Given the description of an element on the screen output the (x, y) to click on. 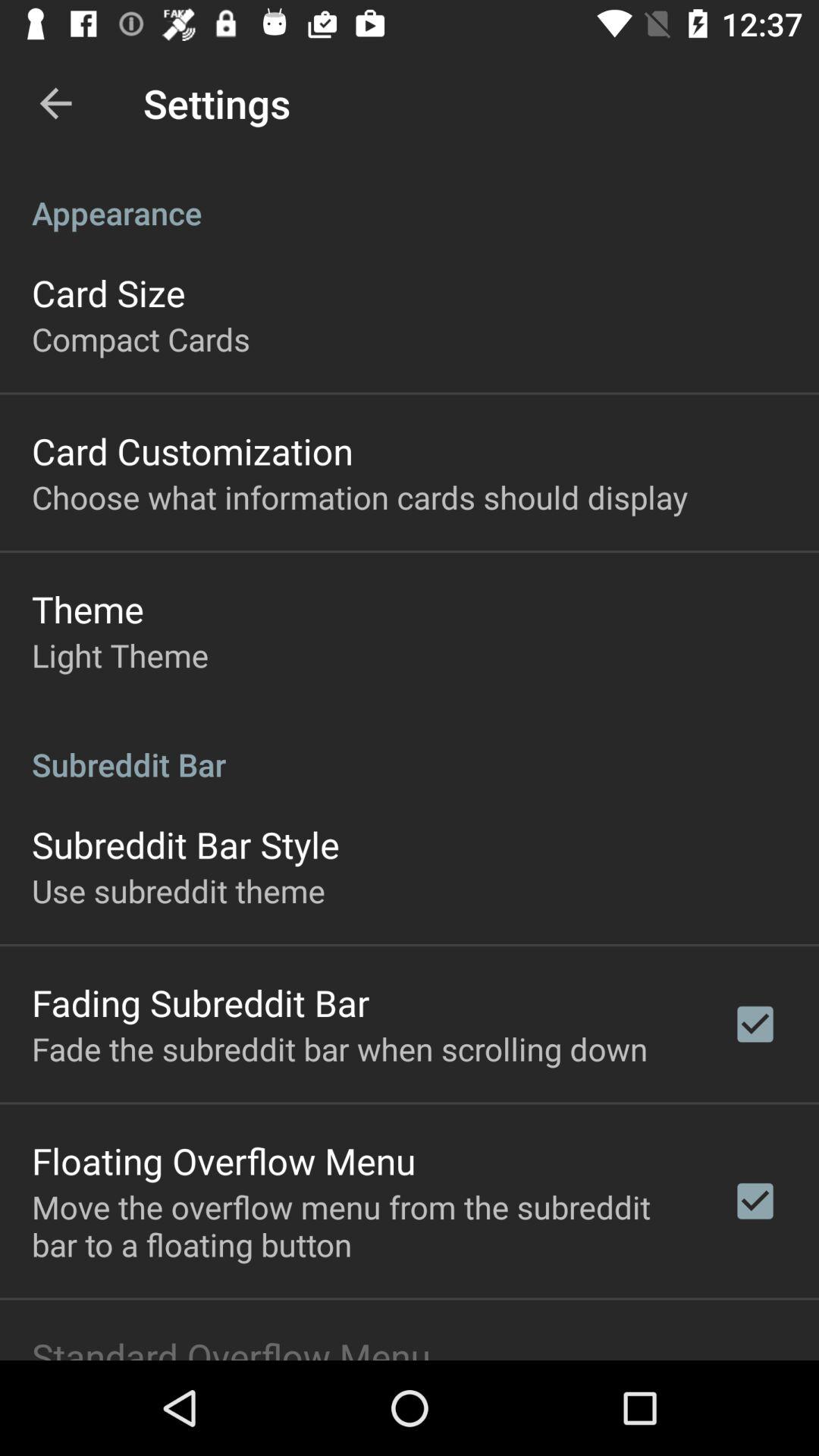
choose the icon below theme item (119, 654)
